Given the description of an element on the screen output the (x, y) to click on. 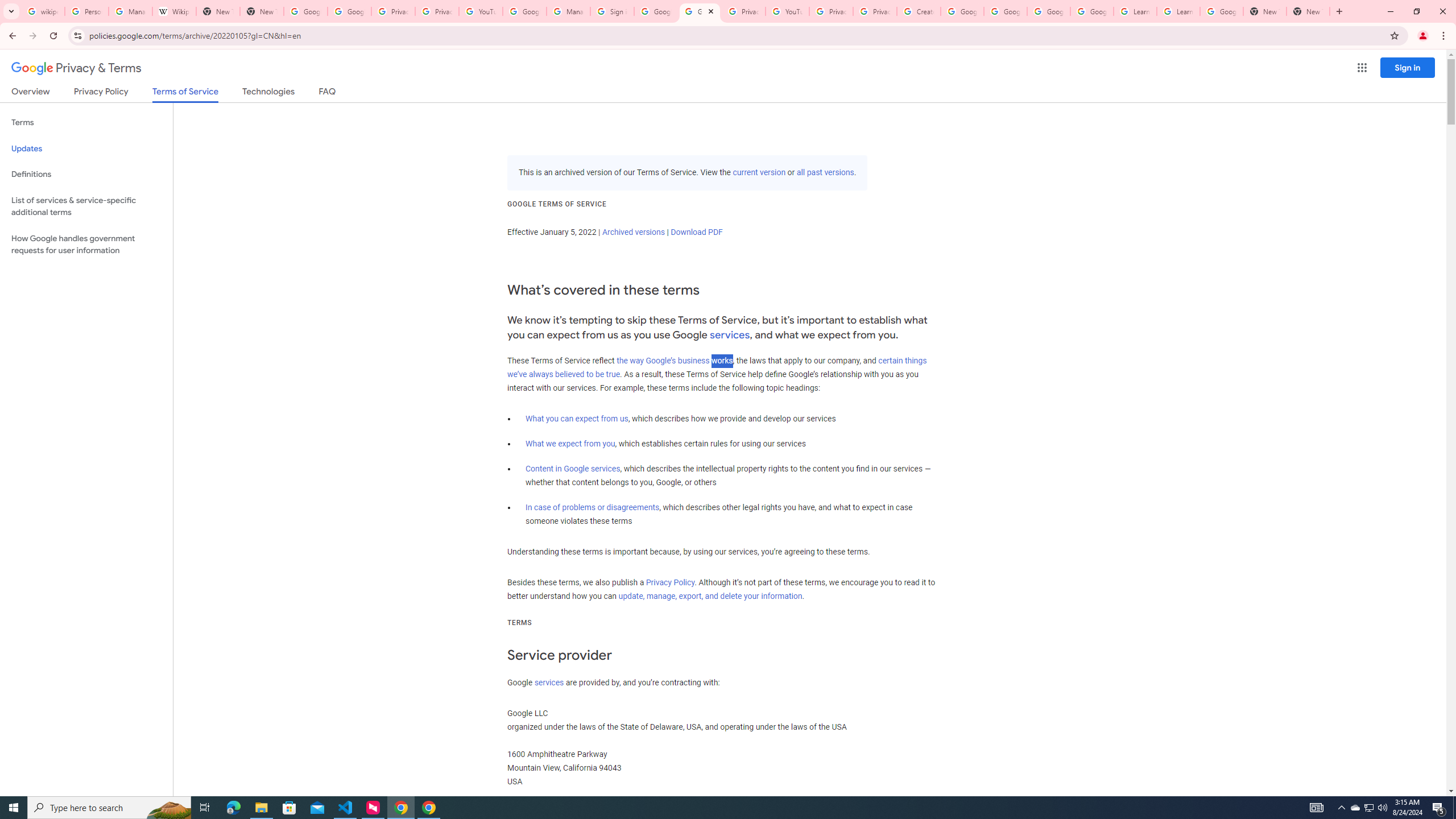
Definitions (86, 174)
What we expect from you (570, 443)
Google Account Help (1091, 11)
How Google handles government requests for user information (86, 244)
Manage your Location History - Google Search Help (130, 11)
current version (759, 172)
List of services & service-specific additional terms (86, 206)
Google Account Help (962, 11)
